Given the description of an element on the screen output the (x, y) to click on. 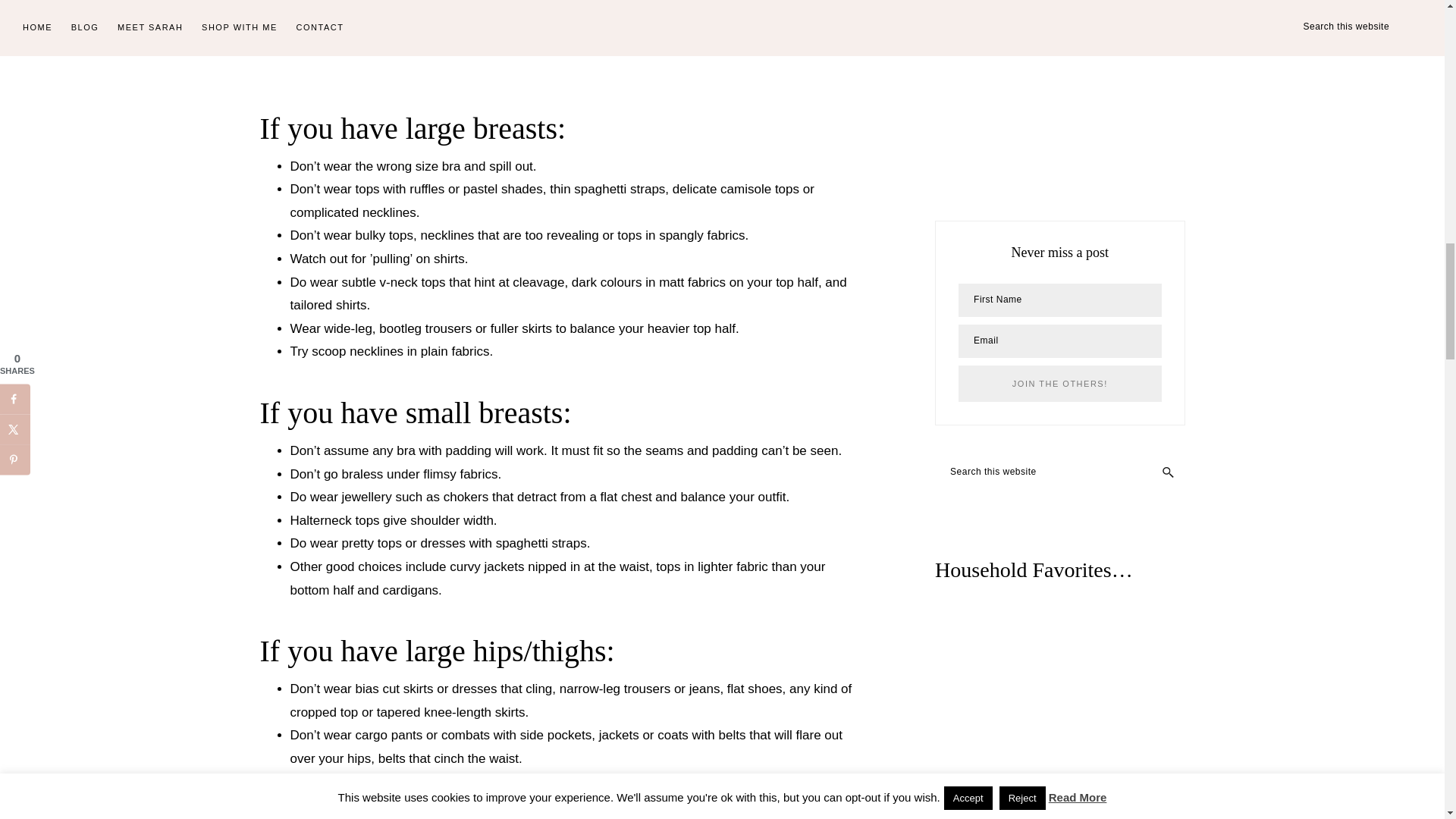
Join the Others! (1059, 383)
